Given the description of an element on the screen output the (x, y) to click on. 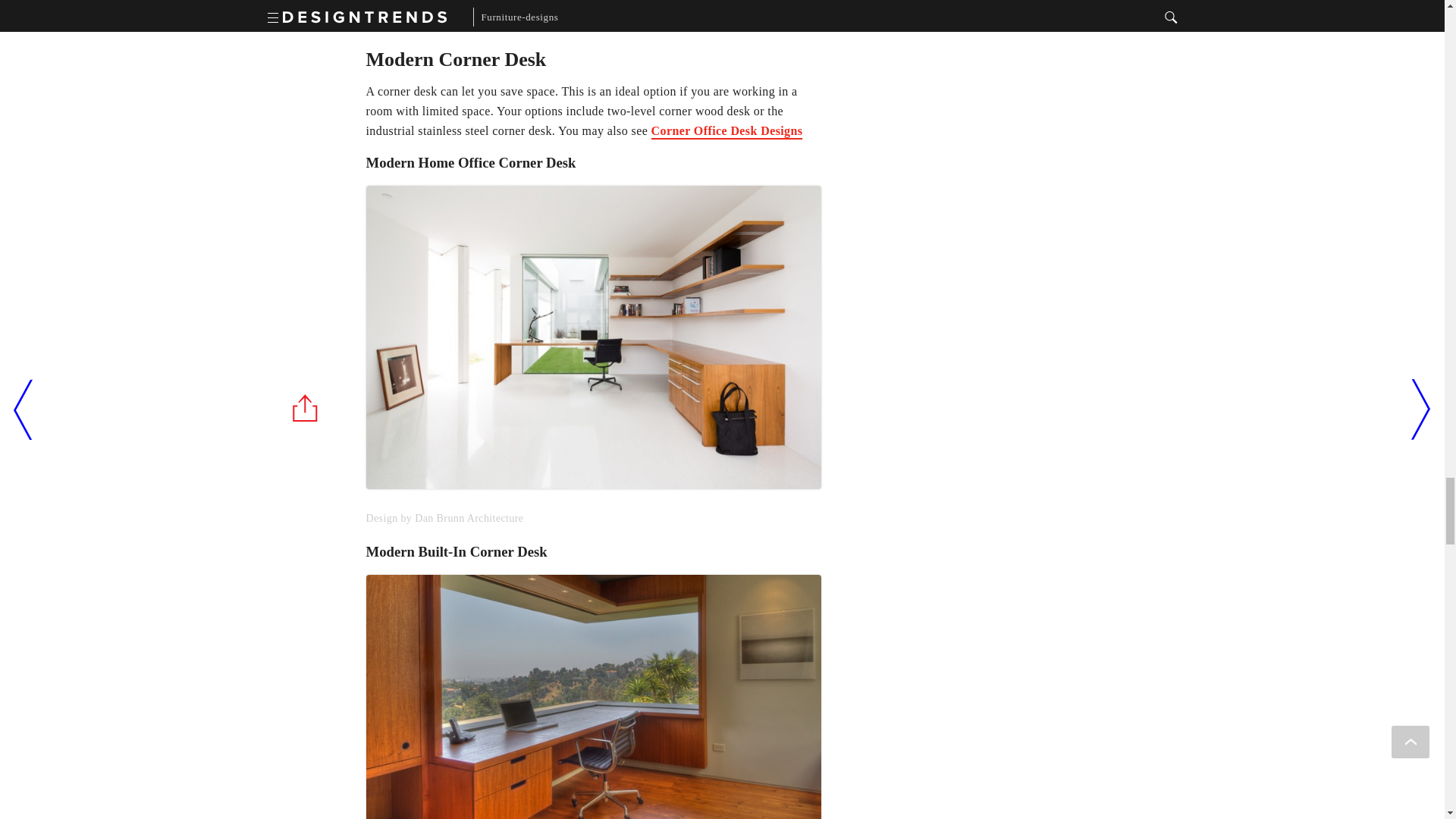
Corner Office Desk Designs (726, 131)
BUY NOW (426, 5)
bertramarchitects.com (593, 696)
